Given the description of an element on the screen output the (x, y) to click on. 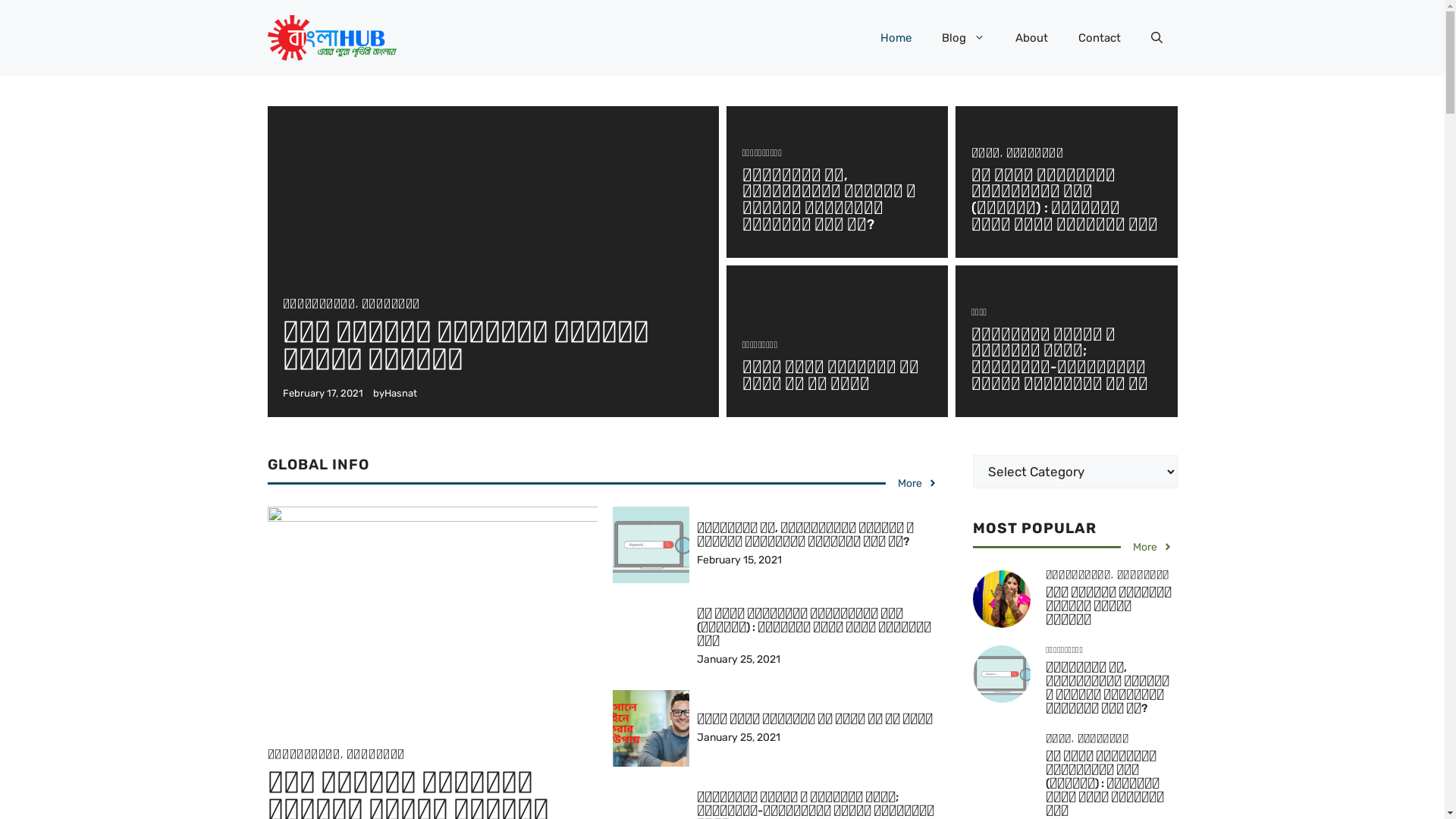
More Element type: text (917, 483)
Blog Element type: text (963, 37)
About Element type: text (1030, 37)
More Element type: text (1152, 547)
Home Element type: text (894, 37)
Contact Element type: text (1099, 37)
